Given the description of an element on the screen output the (x, y) to click on. 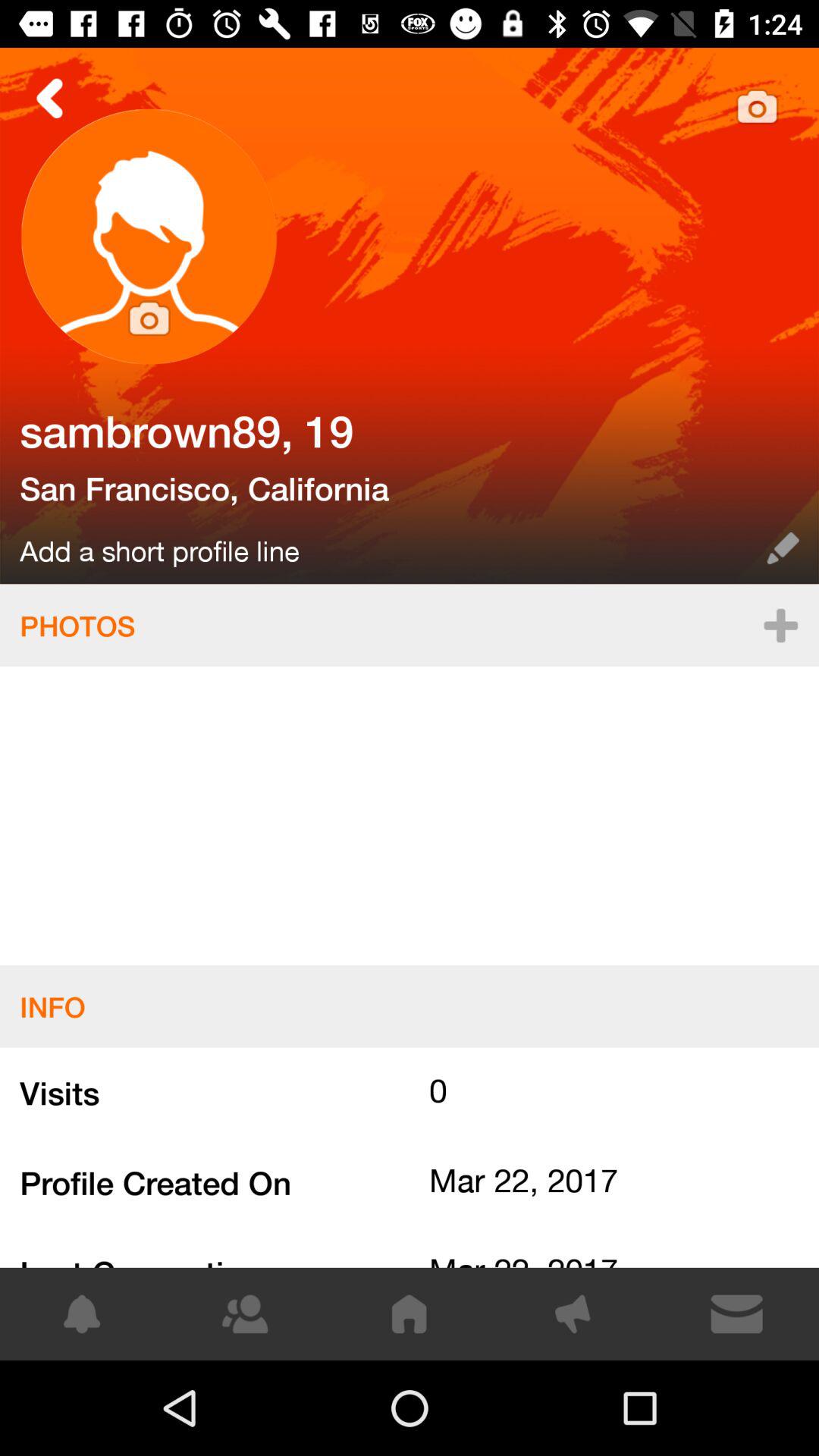
tap the icon to the right of photos icon (780, 625)
